Given the description of an element on the screen output the (x, y) to click on. 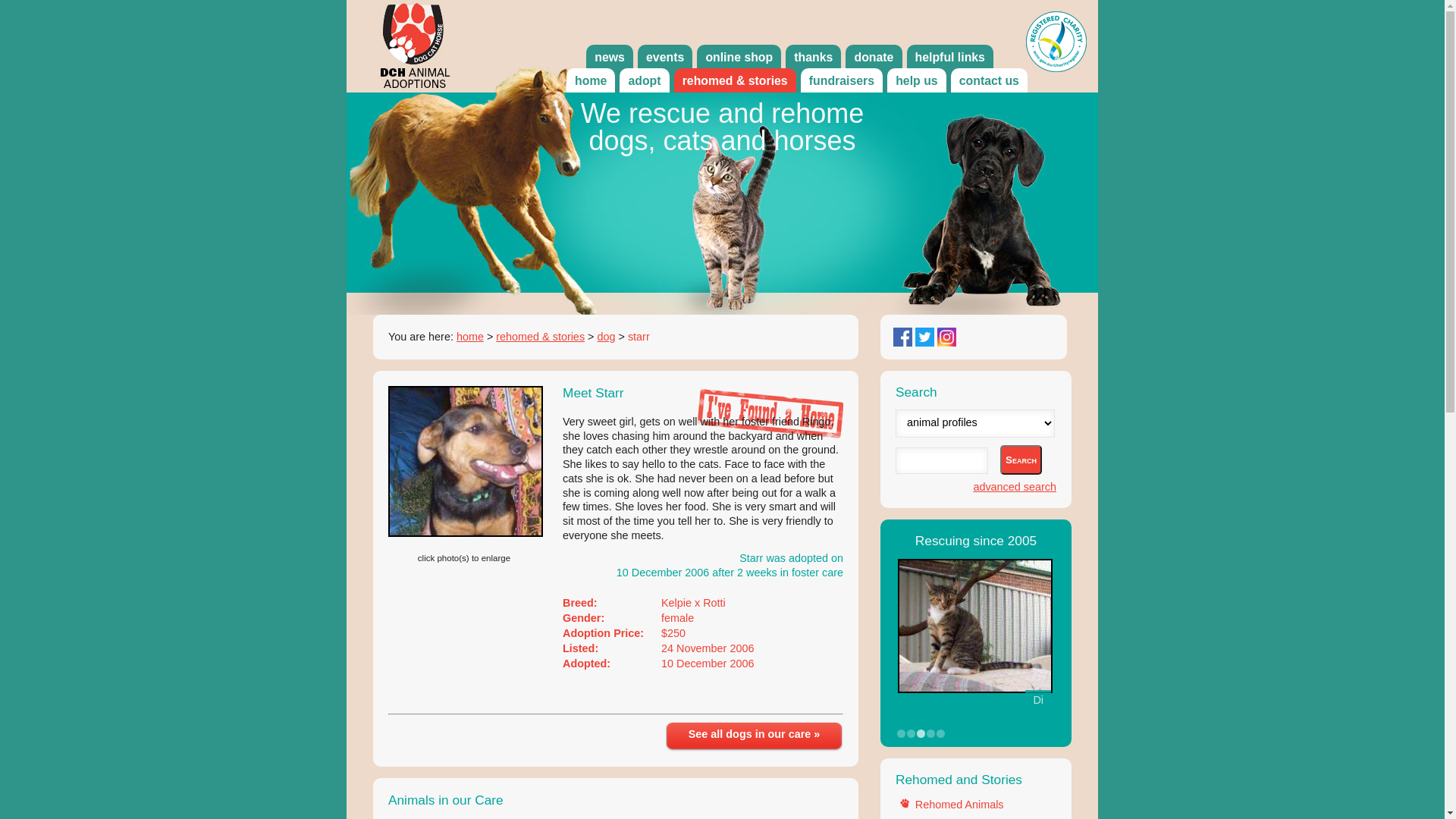
dog Element type: text (605, 336)
thanks Element type: text (812, 57)
helpful links Element type: text (950, 57)
home Element type: text (590, 81)
Rehomed Animals Element type: text (959, 804)
home Element type: text (469, 336)
rehomed & stories Element type: text (539, 336)
news Element type: text (609, 57)
fundraisers Element type: text (841, 81)
rehomed & stories Element type: text (735, 81)
donate Element type: text (873, 57)
1846-Starr-picture0 Element type: hover (465, 460)
adopt Element type: text (643, 81)
events Element type: text (664, 57)
online shop Element type: text (738, 57)
advanced search Element type: text (1014, 486)
help us Element type: text (916, 81)
contact us Element type: text (988, 81)
Search Element type: text (1020, 459)
